Given the description of an element on the screen output the (x, y) to click on. 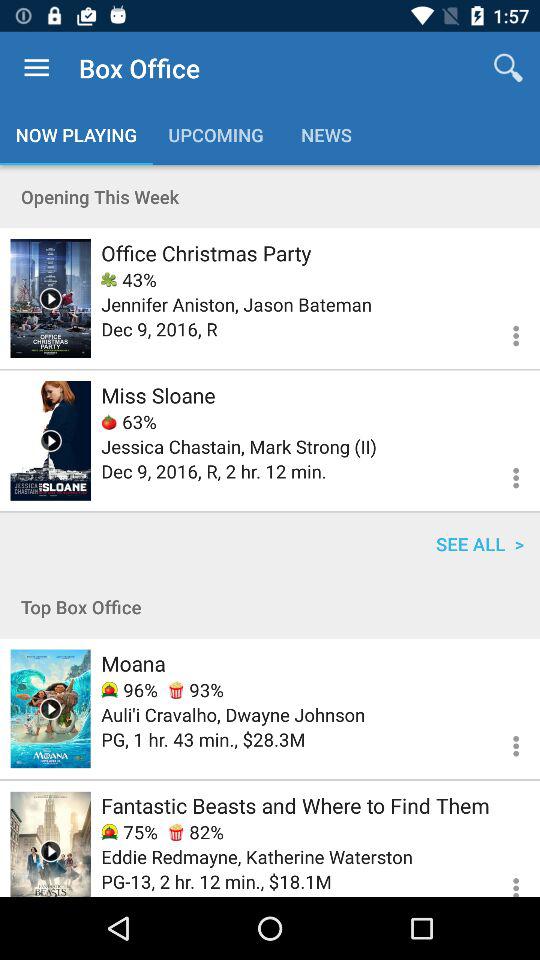
turn on the icon to the left of the 93% item (129, 689)
